Given the description of an element on the screen output the (x, y) to click on. 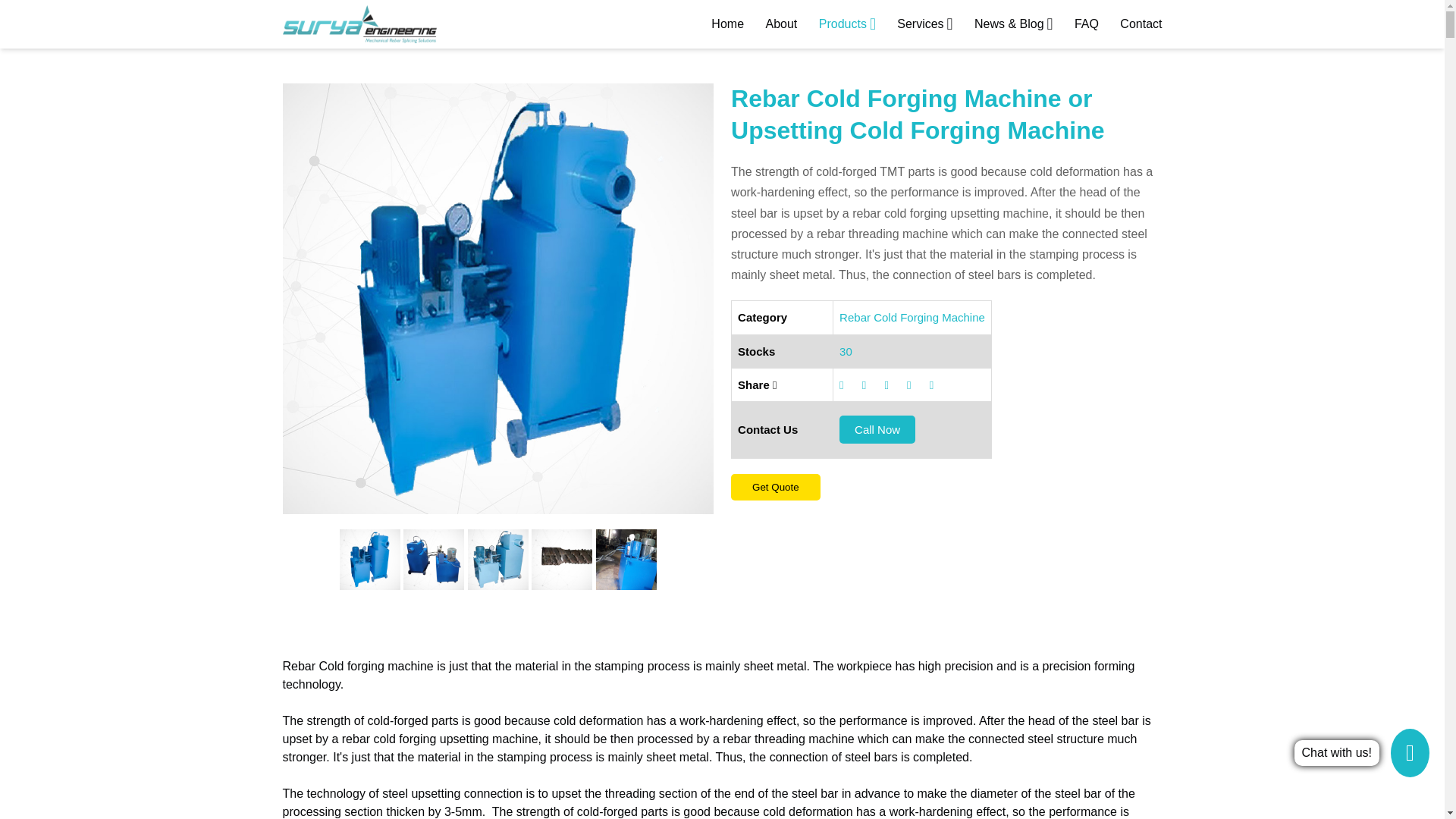
Get Quote (775, 487)
Share on Facebook (856, 384)
FAQ (1086, 24)
Surya Engineering (359, 23)
Share on LinkedIn (901, 384)
About (781, 24)
Contact (1140, 24)
Home (727, 24)
Call Now (877, 429)
Tweet (878, 384)
Pin it (923, 384)
